Given the description of an element on the screen output the (x, y) to click on. 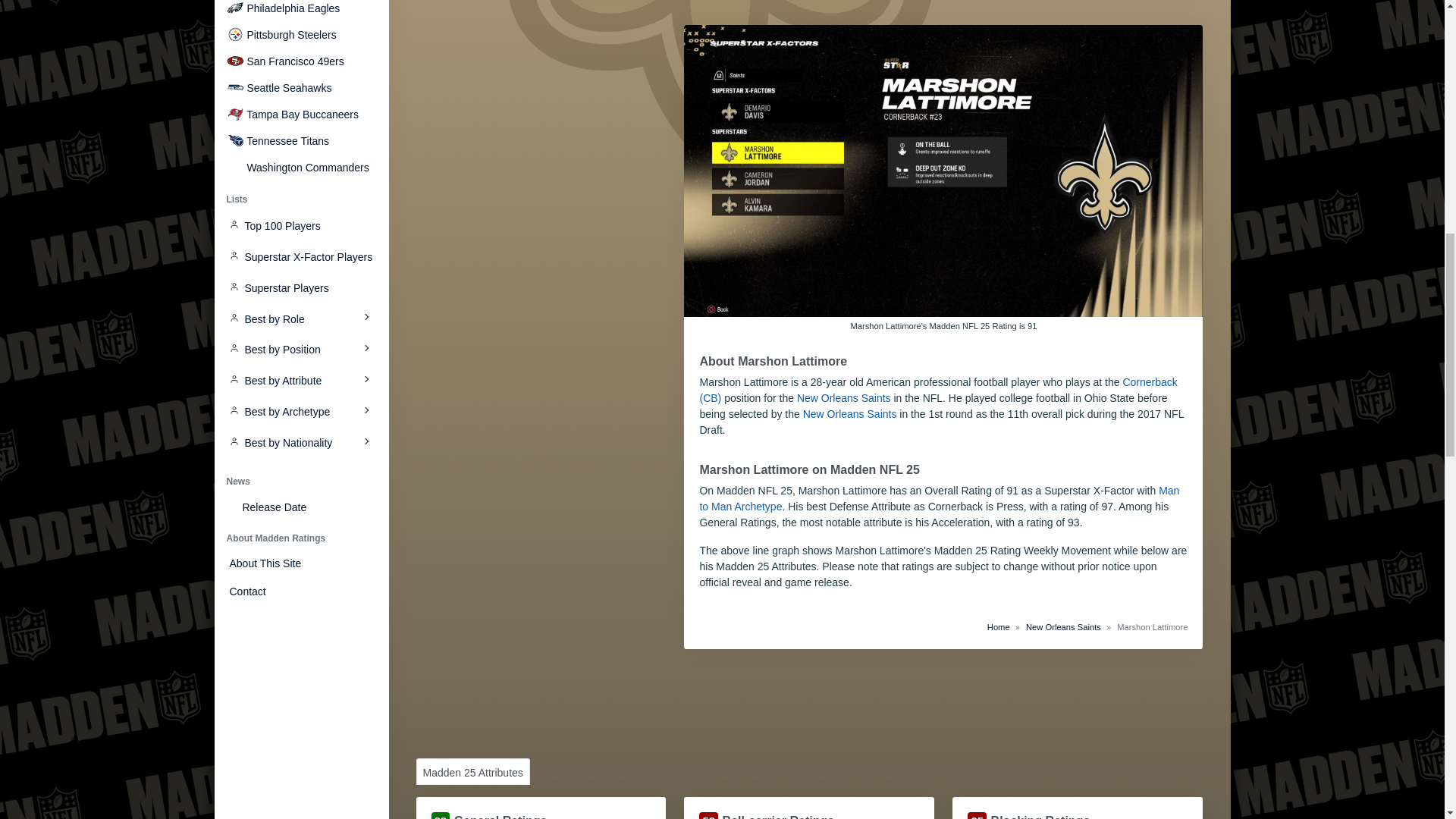
Seattle Seahawks (300, 88)
Washington Commanders (300, 168)
Tampa Bay Buccaneers (300, 115)
Superstar X-Factor Players (300, 256)
Best by Role (300, 318)
San Francisco 49ers (300, 62)
Philadelphia Eagles (300, 9)
Top 100 Players (300, 225)
Superstar Players (300, 287)
Pittsburgh Steelers (300, 35)
Tennessee Titans (300, 141)
